Given the description of an element on the screen output the (x, y) to click on. 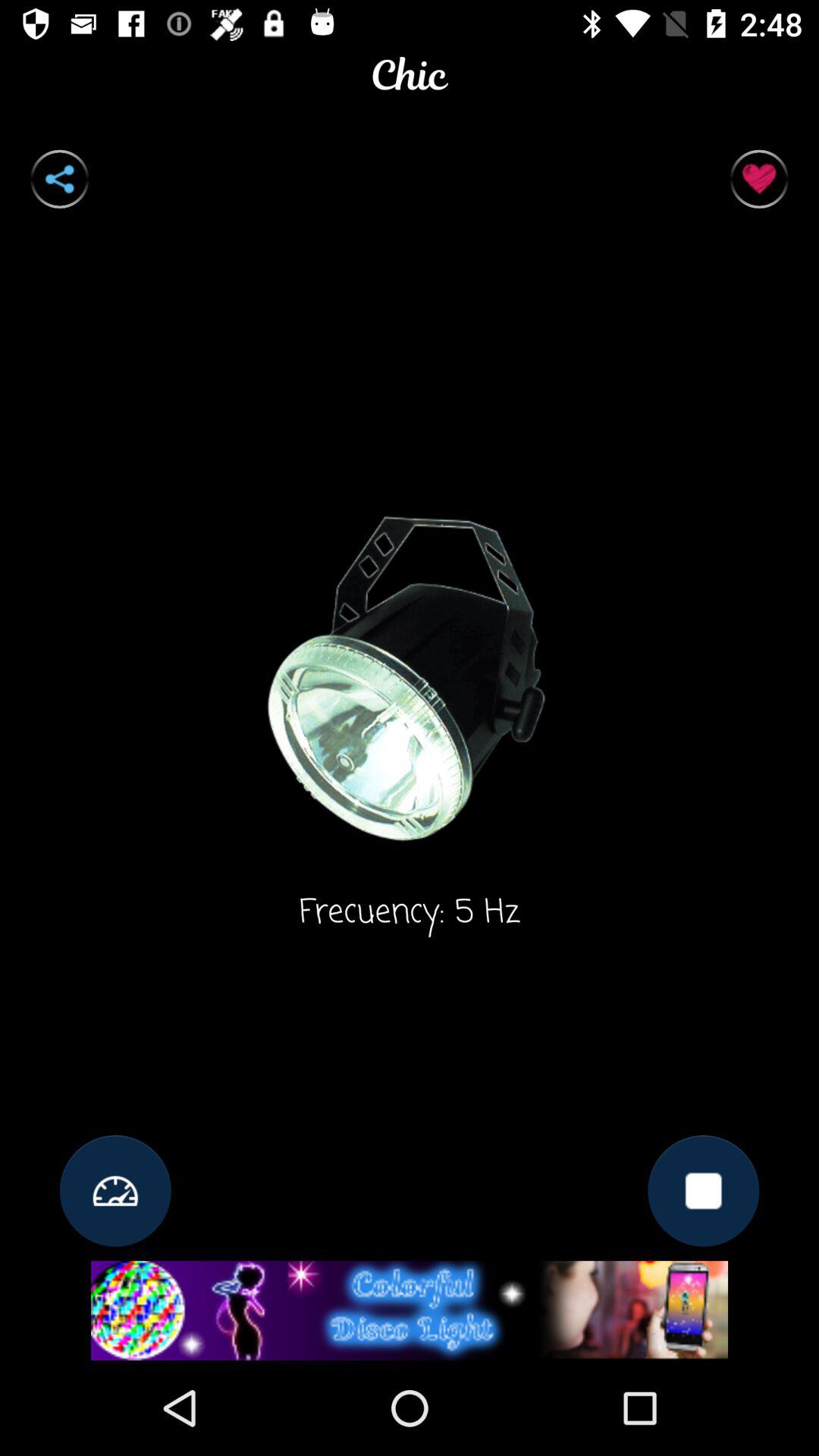
open the clock (115, 1190)
